Given the description of an element on the screen output the (x, y) to click on. 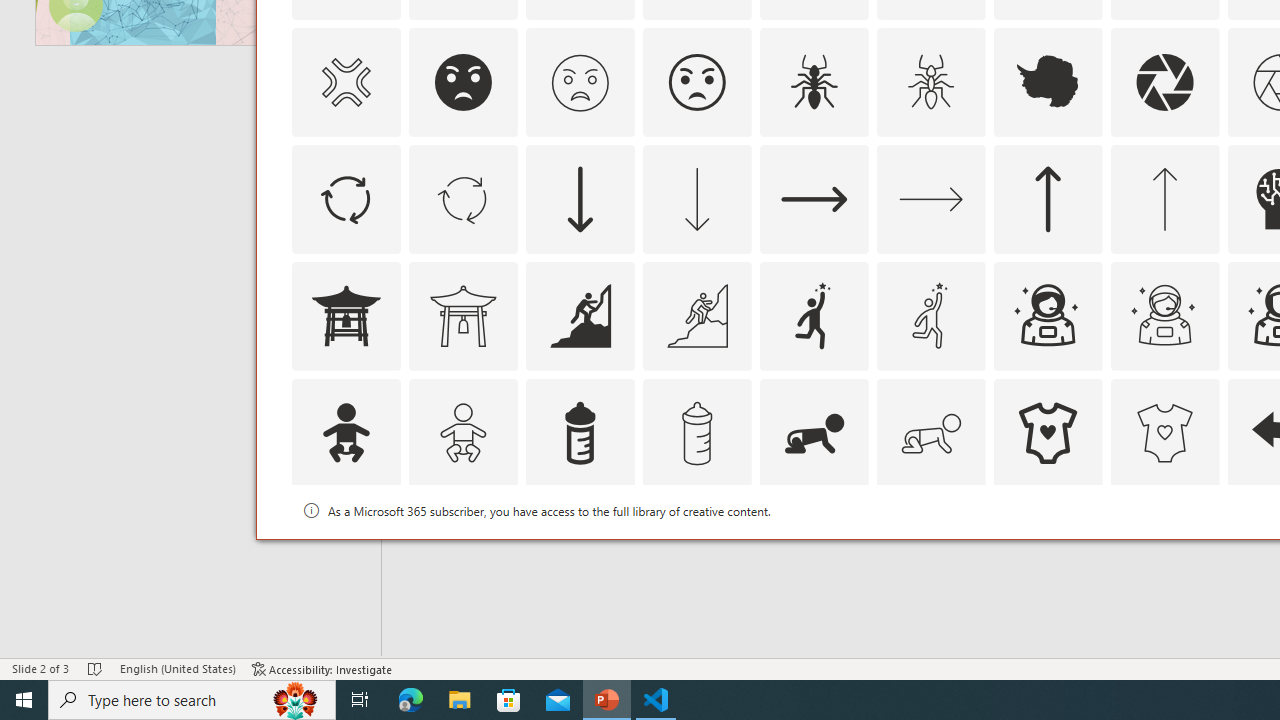
AutomationID: Icons_AngryFace_Outline (696, 82)
AutomationID: Icons_ArrowRight (813, 198)
Thumbnail (1204, 511)
AutomationID: Icons_Badge4_M (1048, 550)
AutomationID: Icons_Badge10_M (345, 550)
AutomationID: Icons_Badge3_M (813, 550)
AutomationID: Icons_AsianTemple1_M (463, 316)
